Given the description of an element on the screen output the (x, y) to click on. 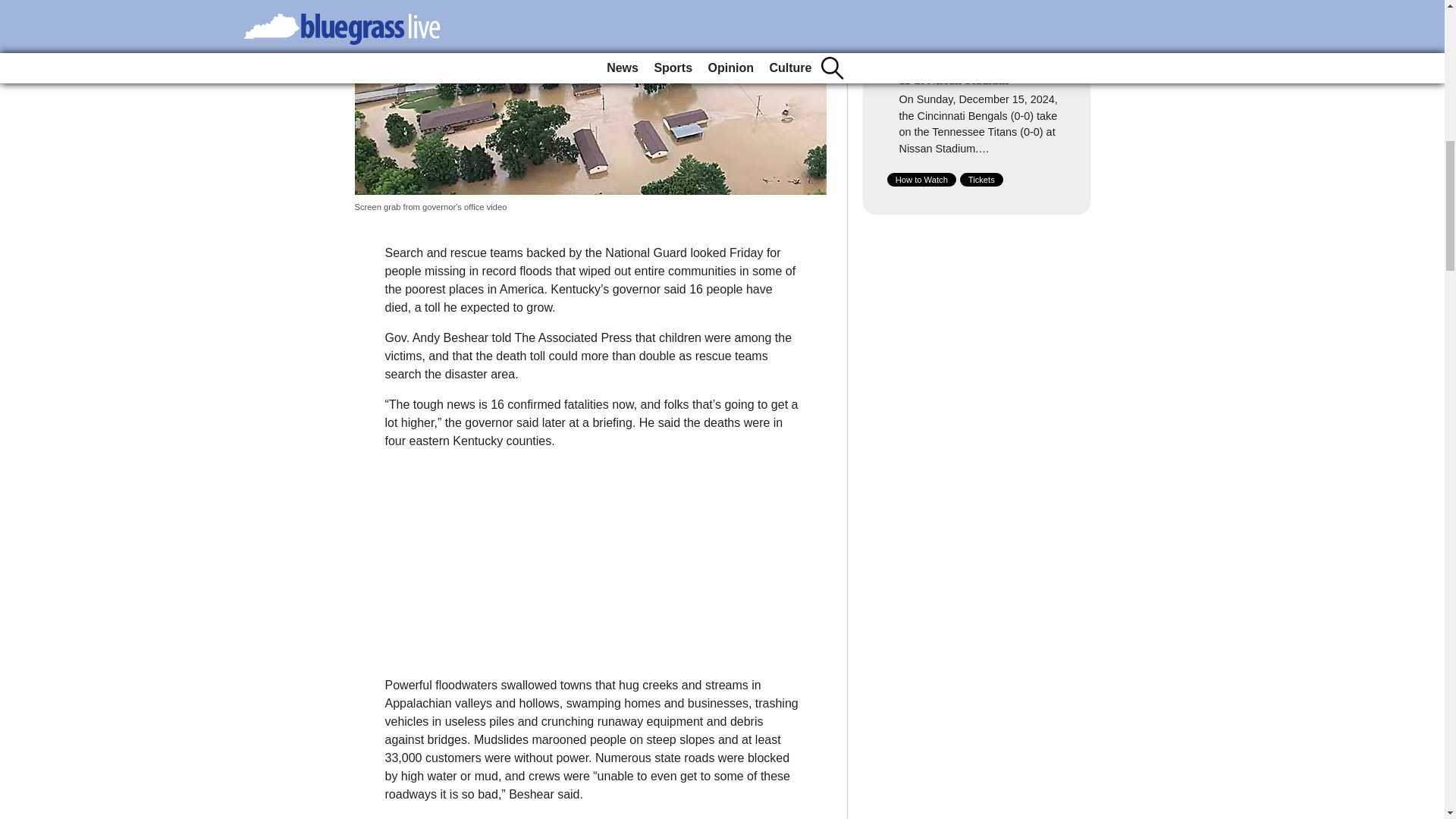
Tickets (981, 179)
How to Watch (921, 179)
